Given the description of an element on the screen output the (x, y) to click on. 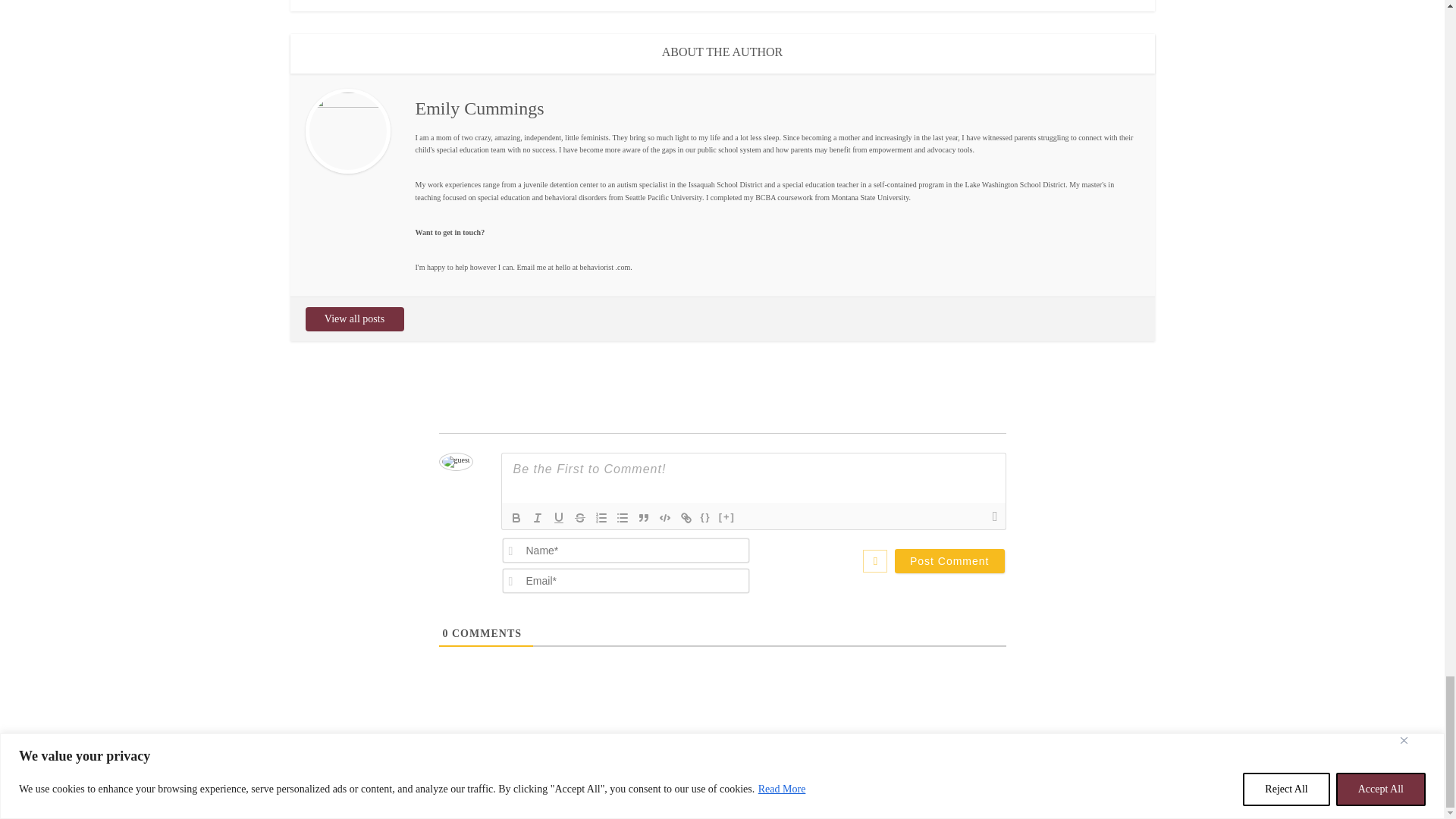
Link (685, 517)
Source Code (704, 517)
Blockquote (642, 517)
Post Comment (949, 560)
Spoiler (726, 517)
Strike (579, 517)
Unordered List (621, 517)
Bold (515, 517)
Italic (536, 517)
Code Block (664, 517)
Ordered List (600, 517)
Underline (558, 517)
